Given the description of an element on the screen output the (x, y) to click on. 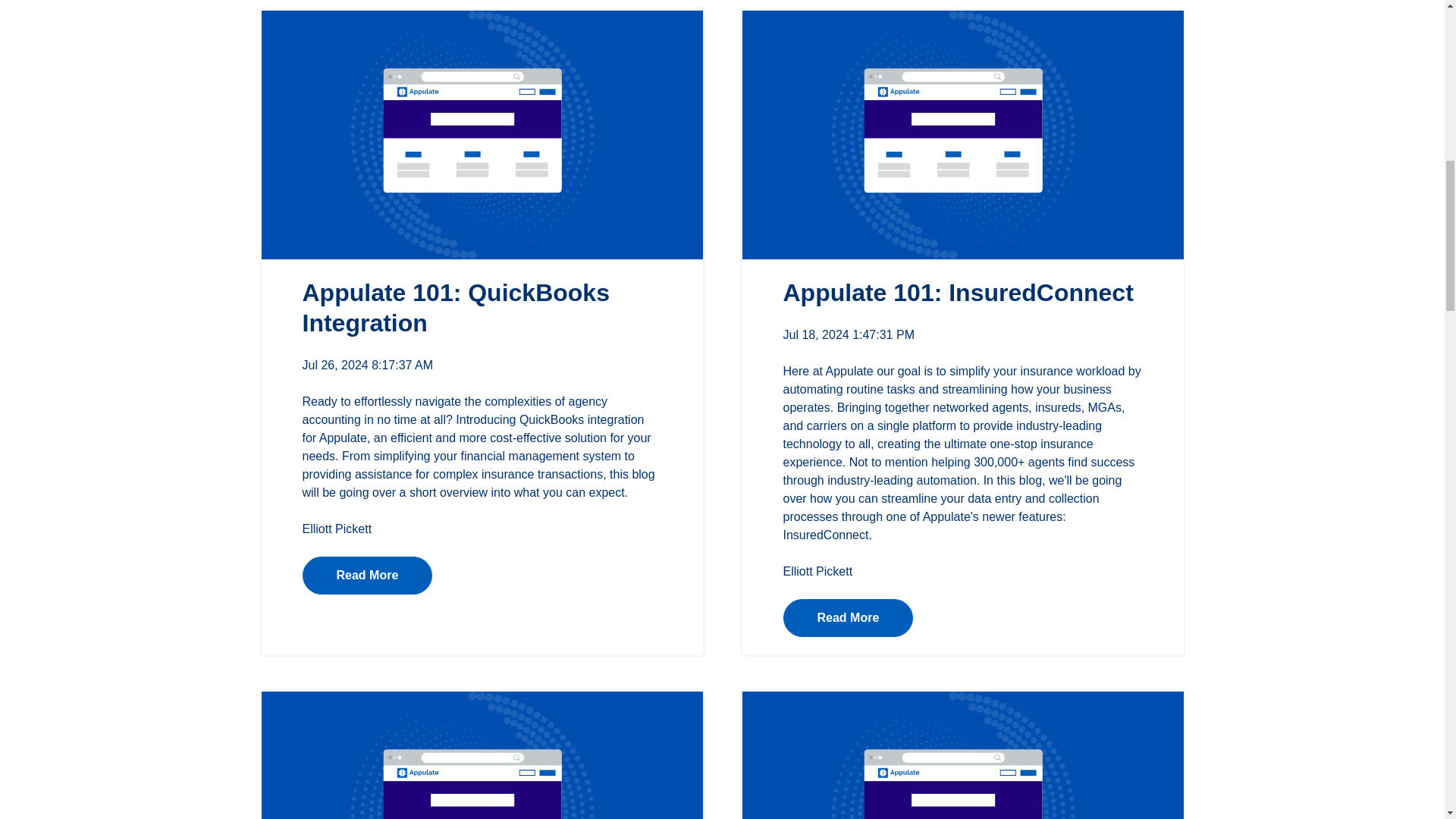
Appulate 101: QuickBooks Integration (454, 307)
Elliott Pickett (817, 571)
Elliott Pickett (336, 528)
Appulate 101: InsuredConnect (957, 292)
Read More (847, 617)
Read More (366, 575)
